Given the description of an element on the screen output the (x, y) to click on. 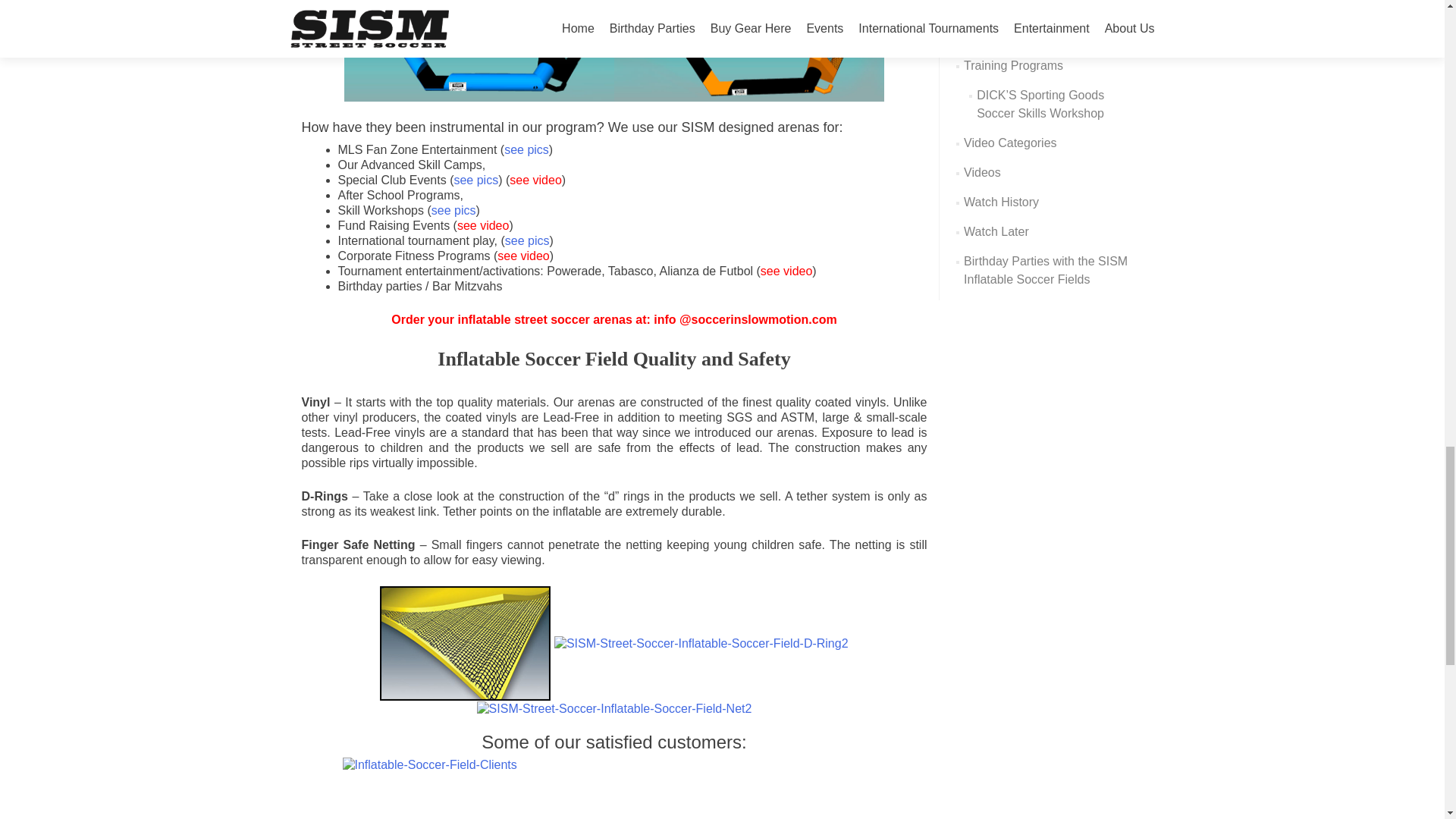
see pics (527, 240)
see pics (453, 210)
see video (523, 255)
see pics (474, 179)
see video (535, 179)
see video (483, 225)
see video (786, 270)
see pics (525, 149)
